Given the description of an element on the screen output the (x, y) to click on. 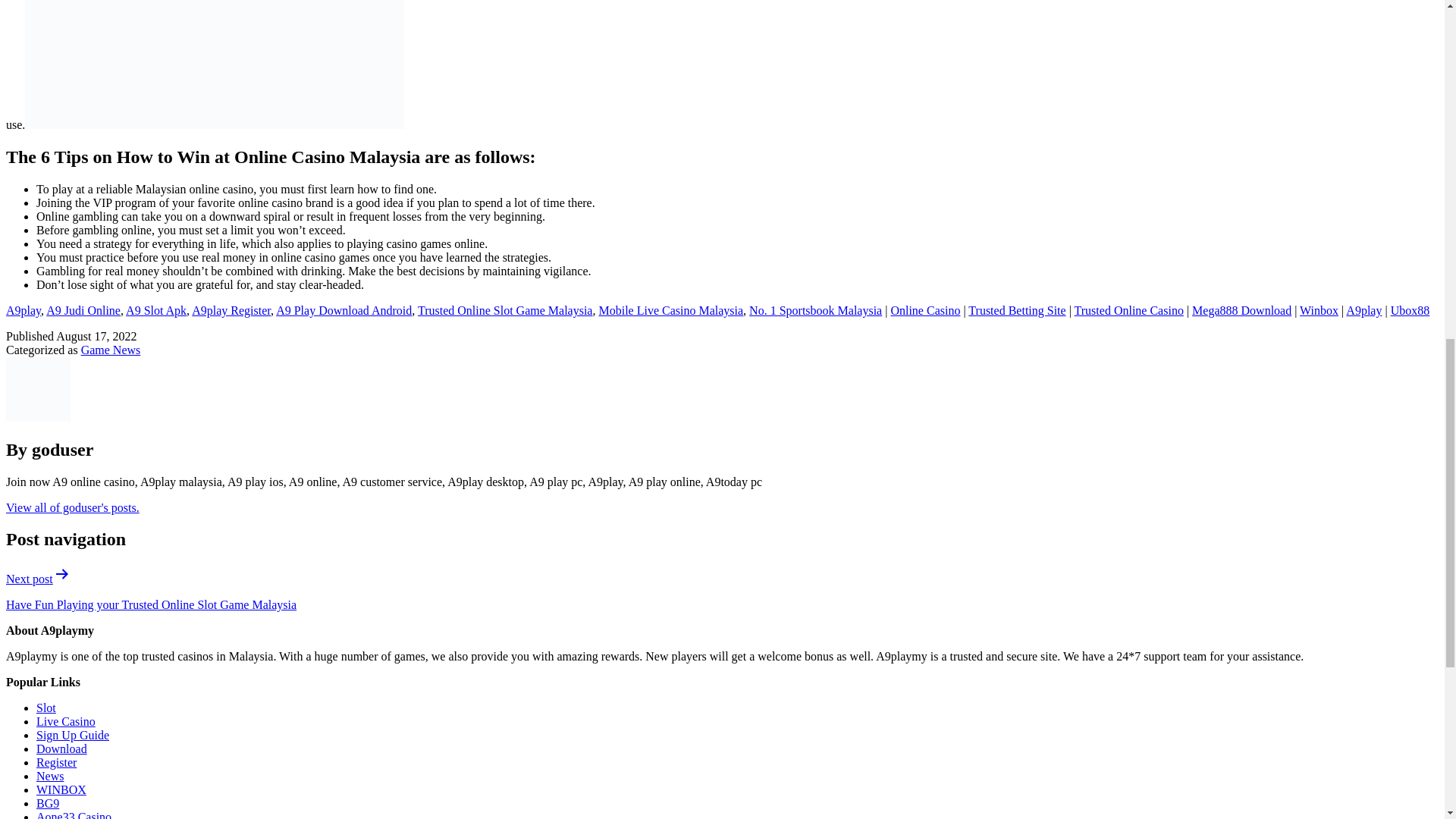
View all of goduser's posts. (72, 506)
Mobile Live Casino Malaysia (670, 309)
A9play Register (231, 309)
A9 Judi Online (83, 309)
Trusted Online Casino (1128, 309)
No. 1 Sportsbook Malaysia (815, 309)
A9play (22, 309)
Game News (111, 349)
Winbox (1319, 309)
Slot (46, 707)
